Given the description of an element on the screen output the (x, y) to click on. 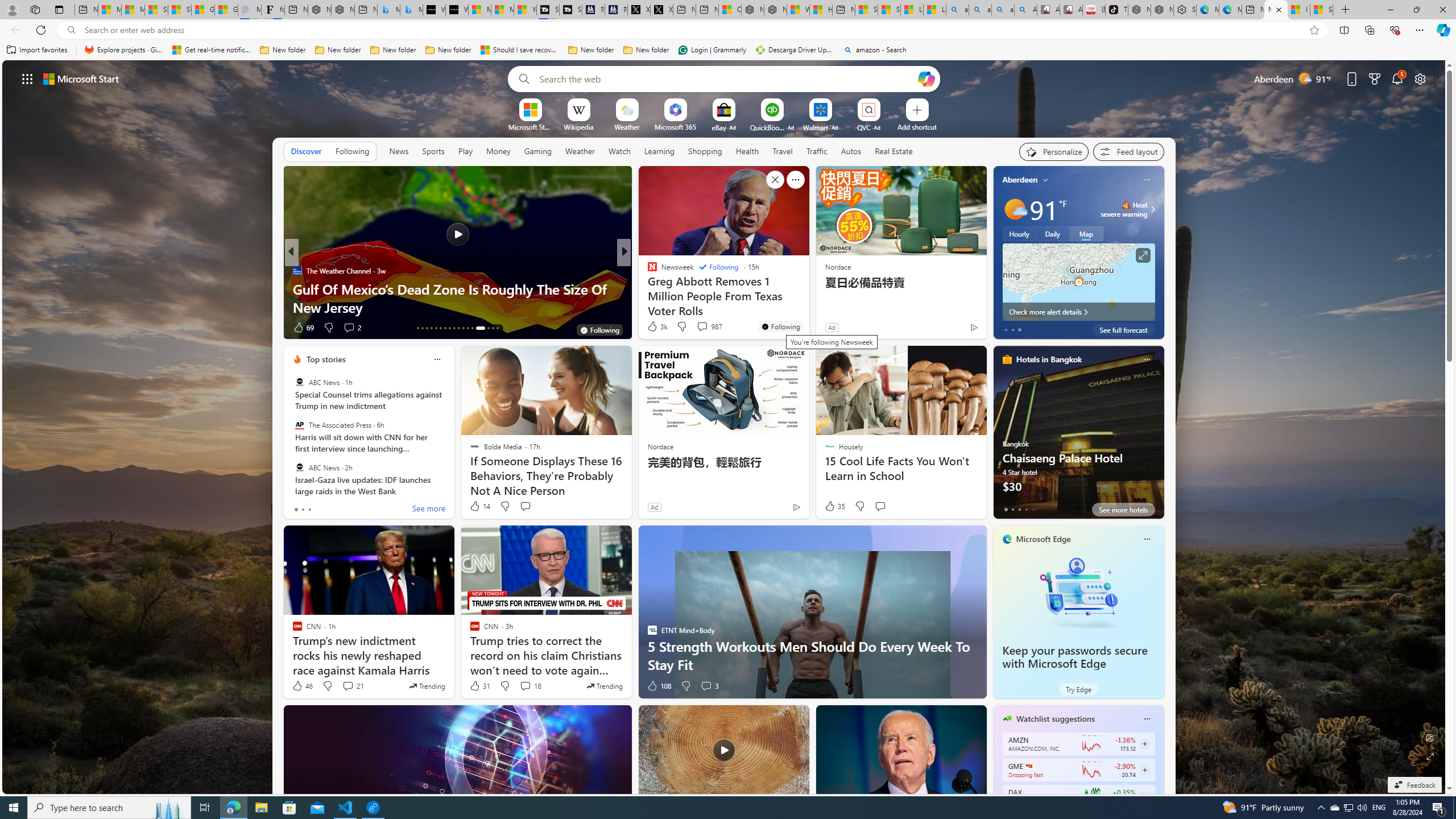
Following (718, 266)
See more hotels (1123, 509)
tab-3 (1025, 509)
Gaming (537, 151)
Learning (658, 151)
Health (746, 151)
Huge shark washes ashore at New York City beach | Watch (821, 9)
Nordace - #1 Japanese Best-Seller - Siena Smart Backpack (342, 9)
Travel (782, 151)
Amazon Echo Robot - Search Images (1025, 9)
Traffic (816, 151)
Microsoft Bing Travel - Stays in Bangkok, Bangkok, Thailand (388, 9)
